Given the description of an element on the screen output the (x, y) to click on. 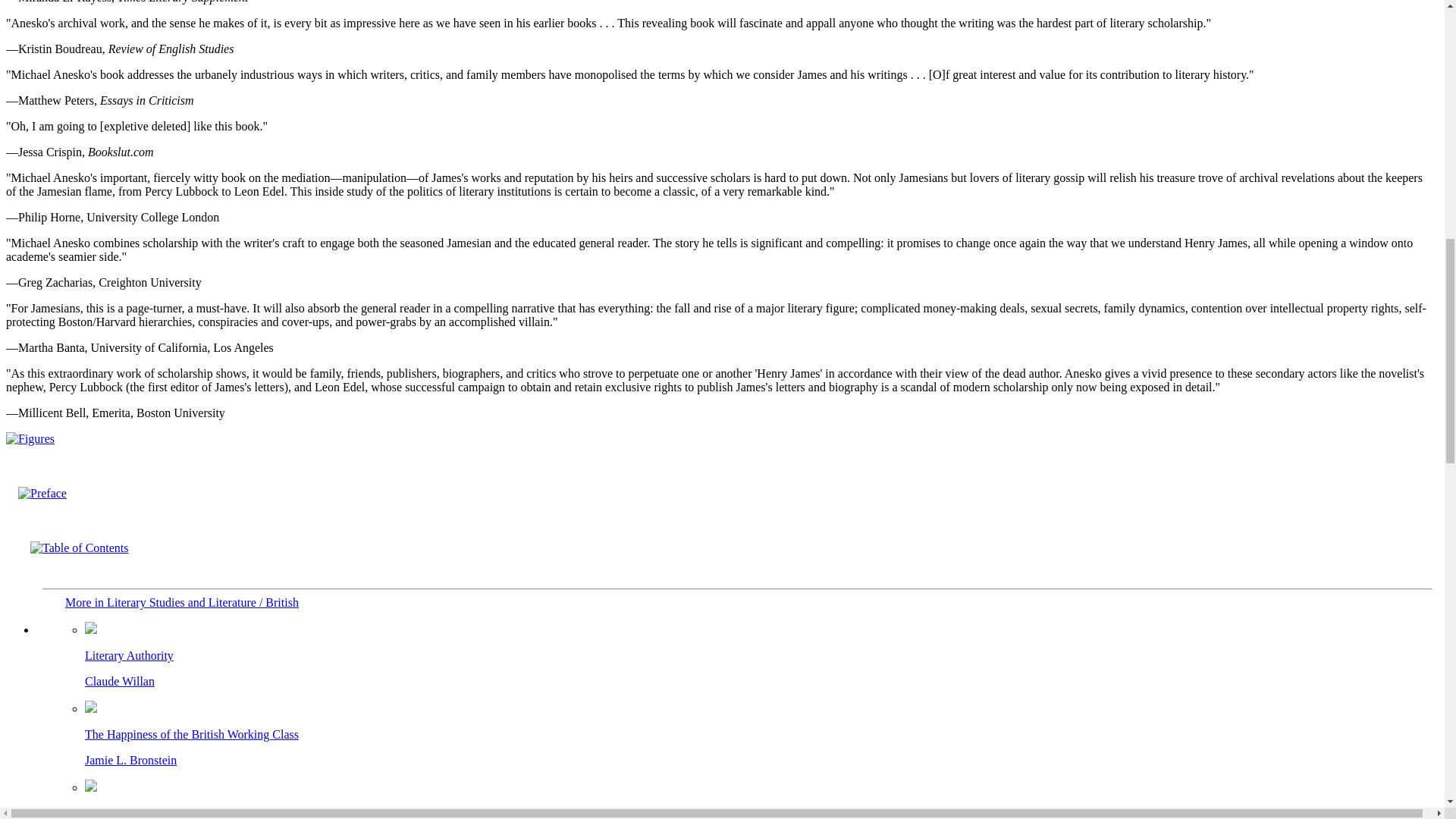
Figures (36, 438)
Preface (752, 800)
Table of Contents (48, 492)
